Given the description of an element on the screen output the (x, y) to click on. 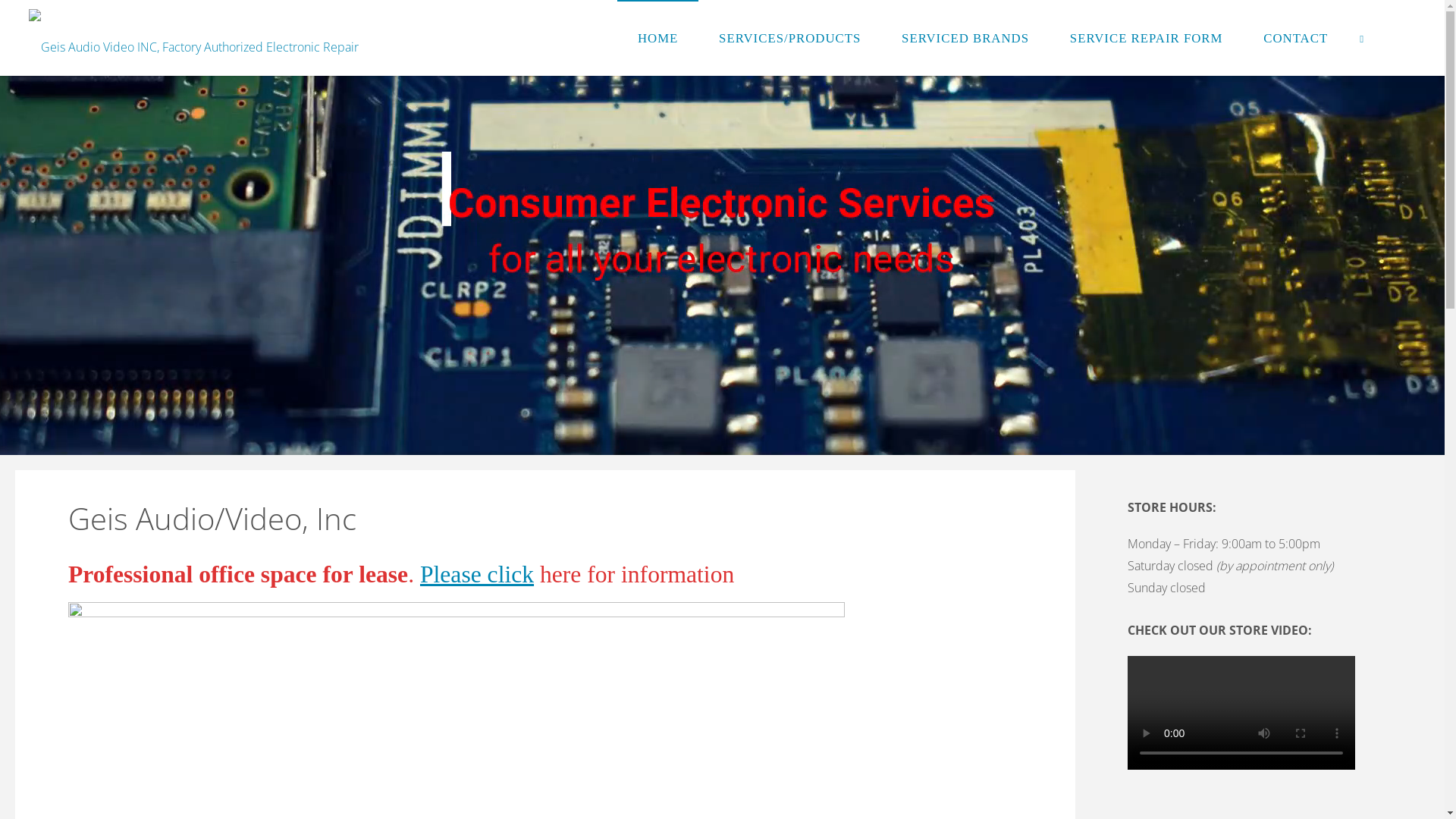
SERVICED BRANDS Element type: text (965, 37)
CONTACT Element type: text (1295, 37)
SEARCH Element type: text (1361, 37)
SERVICE REPAIR FORM Element type: text (1145, 37)
SERVICES/PRODUCTS Element type: text (789, 37)
Geis Audio/Video, Inc. Element type: hover (193, 37)
Please click Element type: text (476, 574)
HOME Element type: text (657, 37)
